Given the description of an element on the screen output the (x, y) to click on. 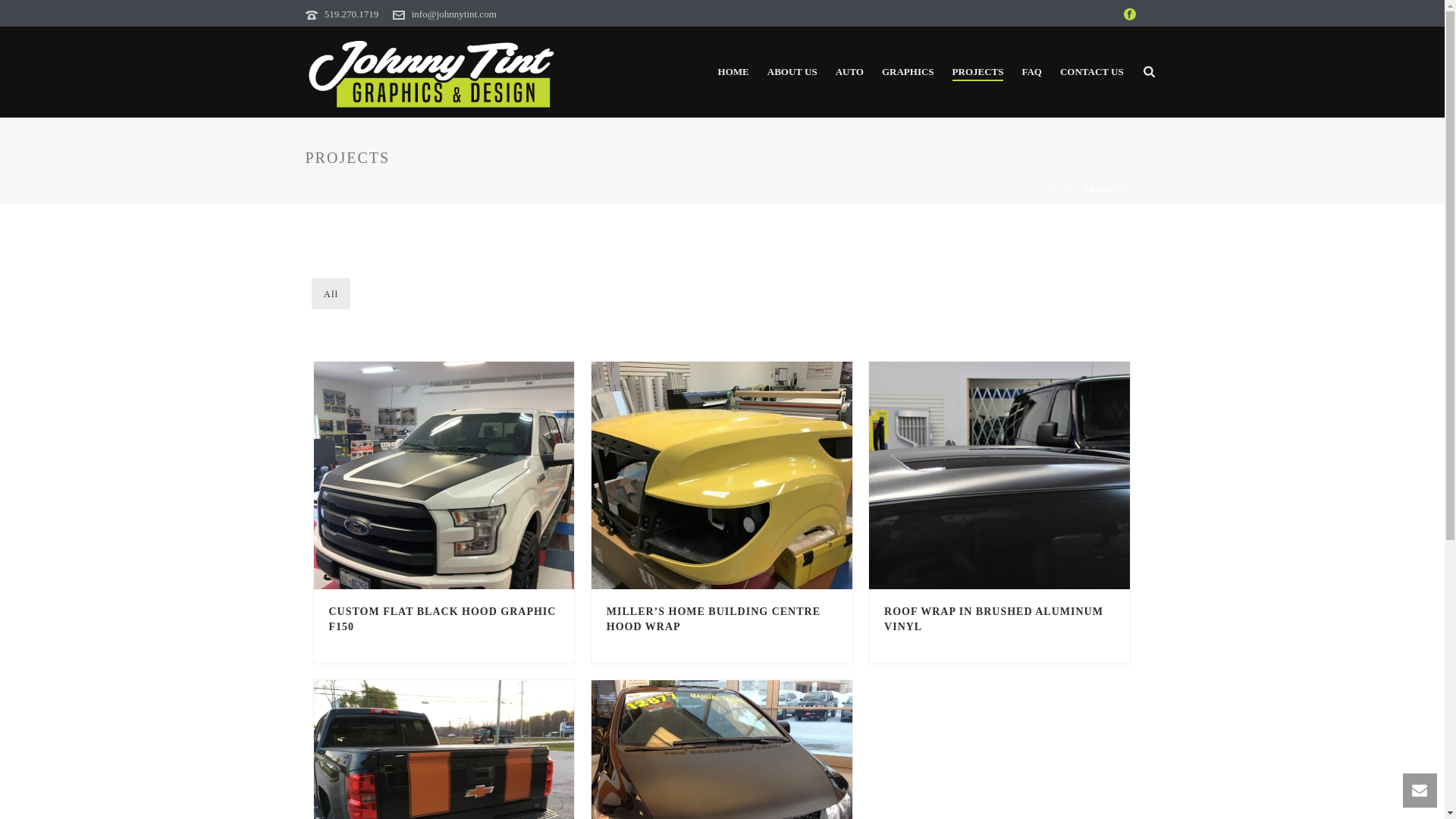
FAQ (1030, 72)
GRAPHICS (907, 72)
HOME (1061, 189)
GRAPHICS (907, 72)
ABOUT US (792, 72)
HOME (733, 72)
CONTACT US (1091, 72)
519.270.1719 (351, 13)
ABOUT US (792, 72)
Custom Flat Black hood graphic F150 (444, 474)
Custom truck rally stripes (444, 749)
AUTO (849, 72)
Carbon fibre hood wrap (721, 749)
PROJECTS (978, 72)
CONTACT US (1091, 72)
